Given the description of an element on the screen output the (x, y) to click on. 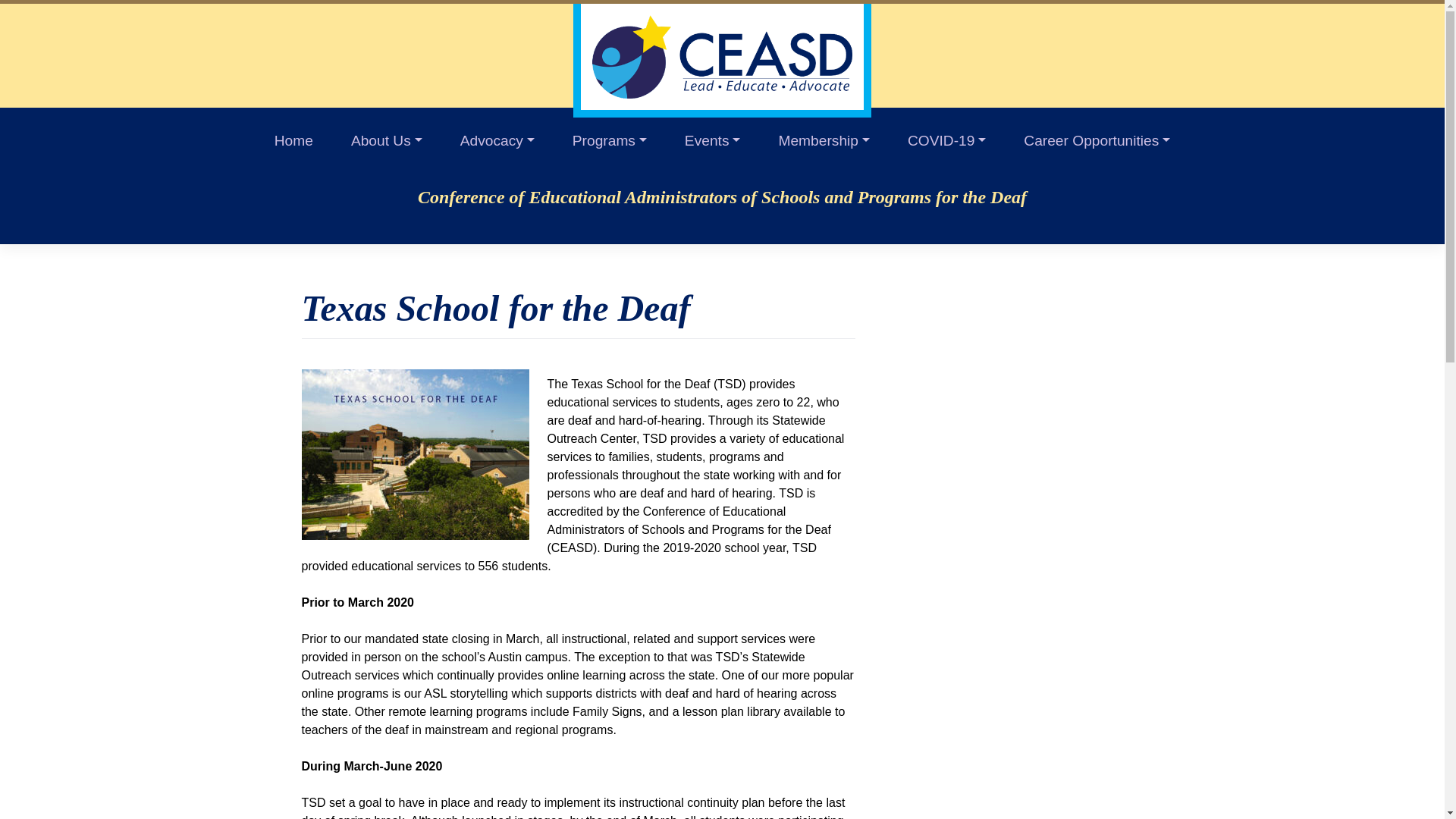
About Us (386, 137)
Advocacy (497, 137)
Home (293, 137)
Advocacy (497, 137)
Home (293, 137)
Programs (609, 137)
About Us (386, 137)
